Given the description of an element on the screen output the (x, y) to click on. 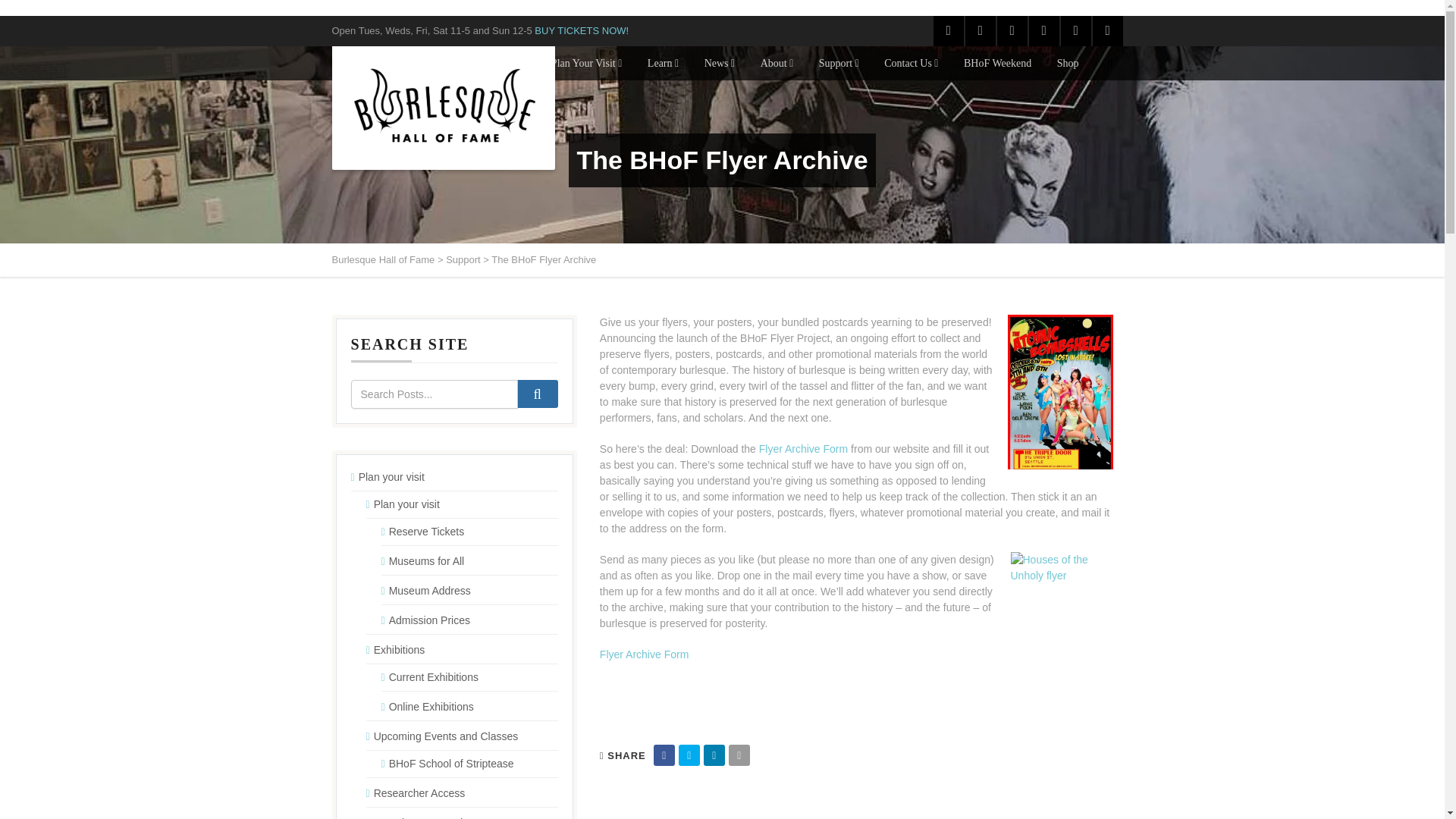
Tweet (689, 754)
BUY TICKETS NOW! (581, 30)
Learn (662, 62)
Plan Your Visit (587, 62)
Email (739, 754)
Burlesque Hall of Fame (443, 107)
Share on Facebook (664, 754)
News (719, 62)
Go to Support. (462, 259)
Go to Burlesque Hall of Fame. (383, 259)
Share on Linkedin (714, 754)
